Given the description of an element on the screen output the (x, y) to click on. 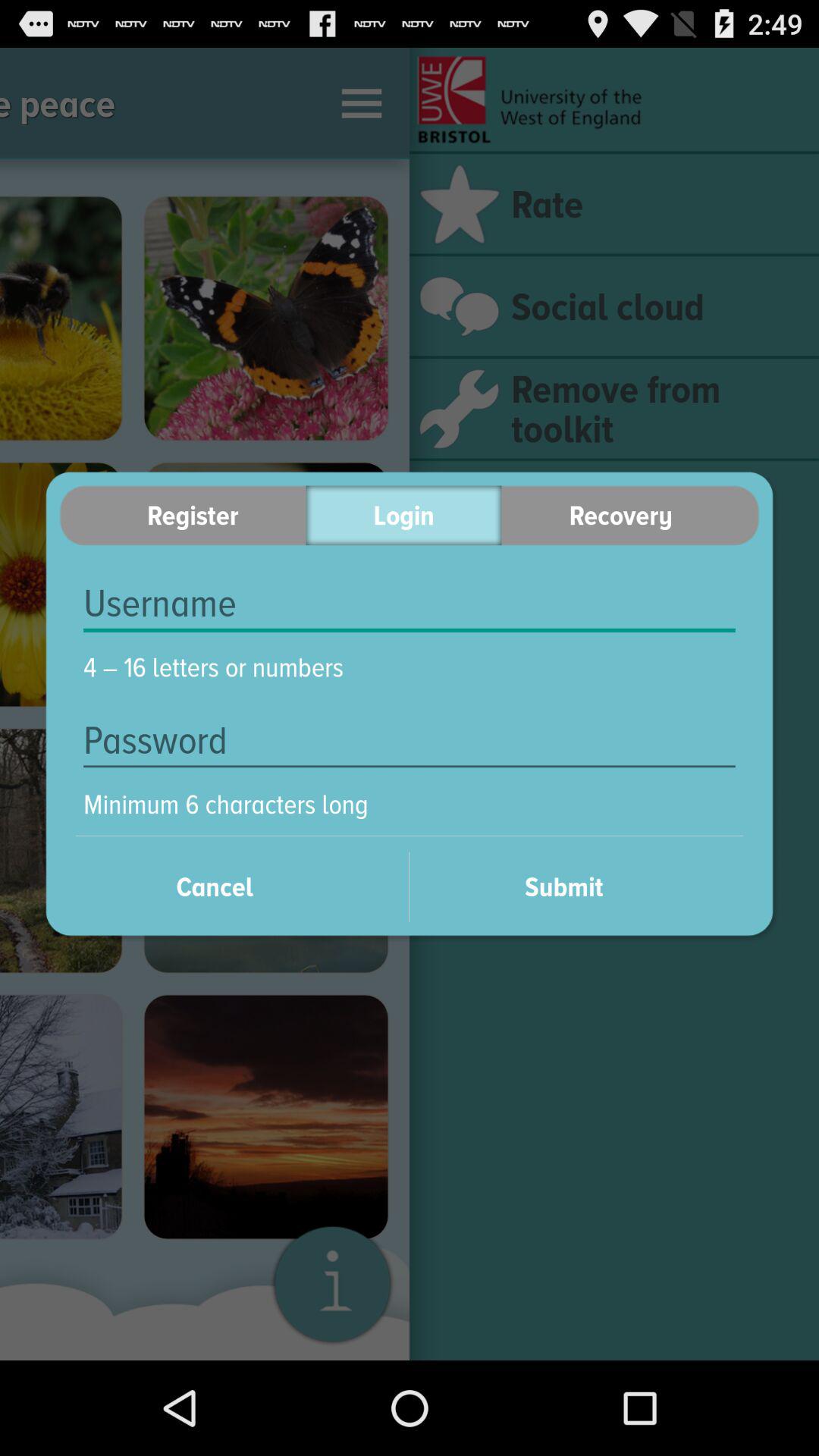
choose the item to the right of the login item (630, 515)
